Given the description of an element on the screen output the (x, y) to click on. 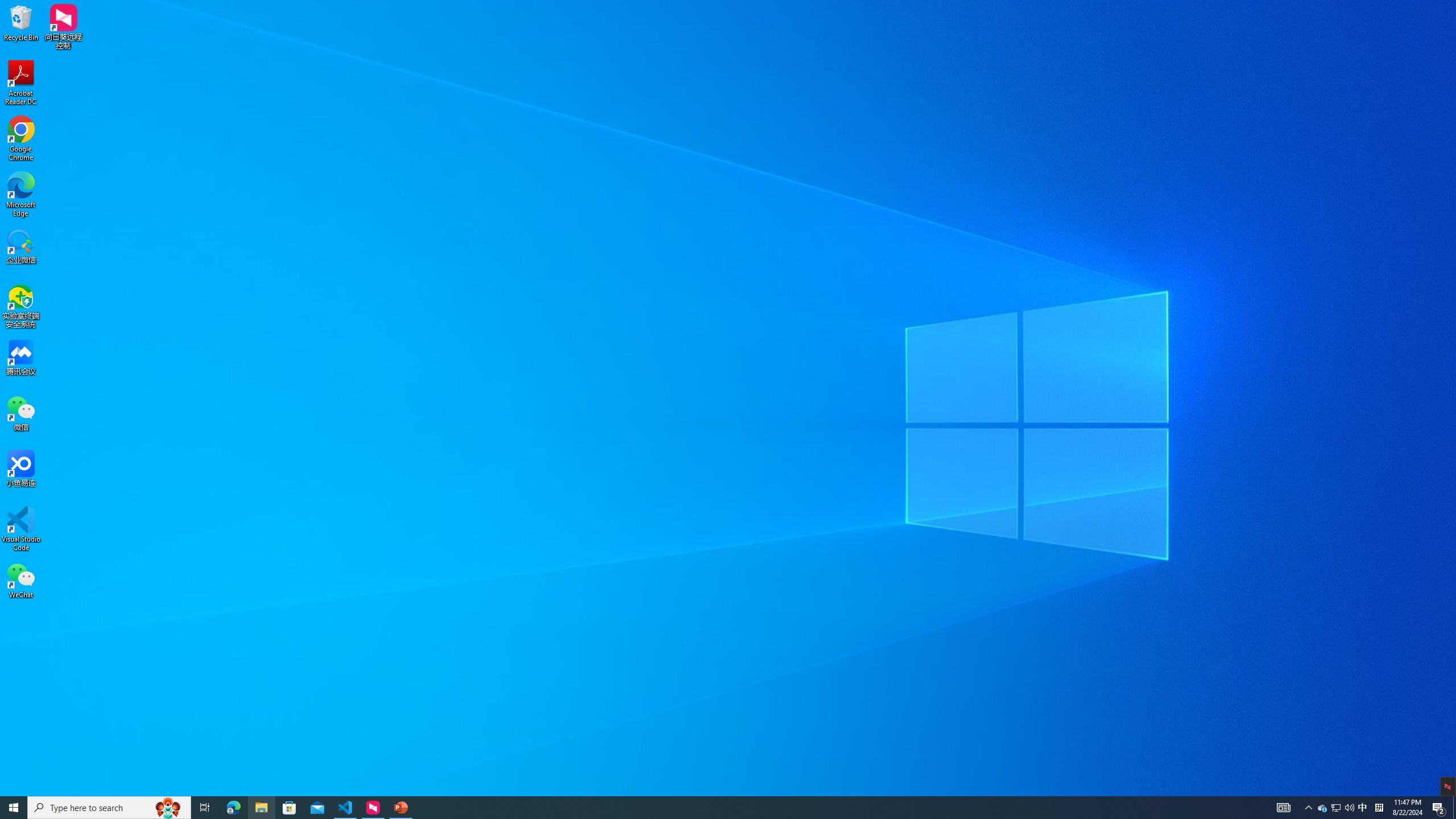
Running applications (700, 807)
Recommended Design: Animation (1366, 162)
Underline (209, 67)
Shape Effects (700, 69)
